Given the description of an element on the screen output the (x, y) to click on. 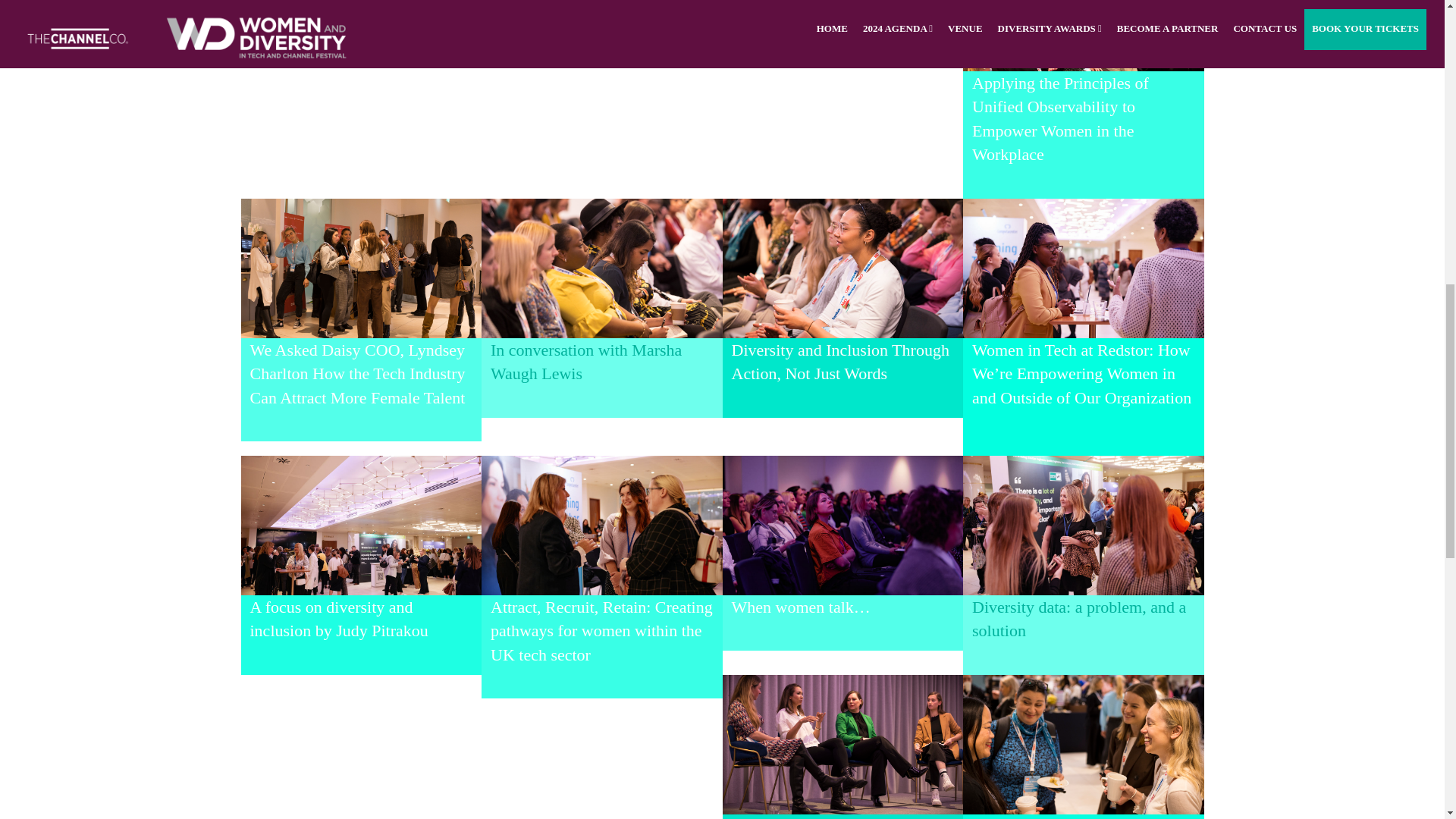
A focus on diversity and inclusion by Judy Pitrakou (339, 618)
In conversation with Marsha Waugh Lewis (585, 361)
Diversity data: a problem, and a solution (1079, 618)
Is gender-biased AI sending us back in time? (833, 817)
Diversity and Inclusion Through Action, Not Just Words (839, 361)
